Given the description of an element on the screen output the (x, y) to click on. 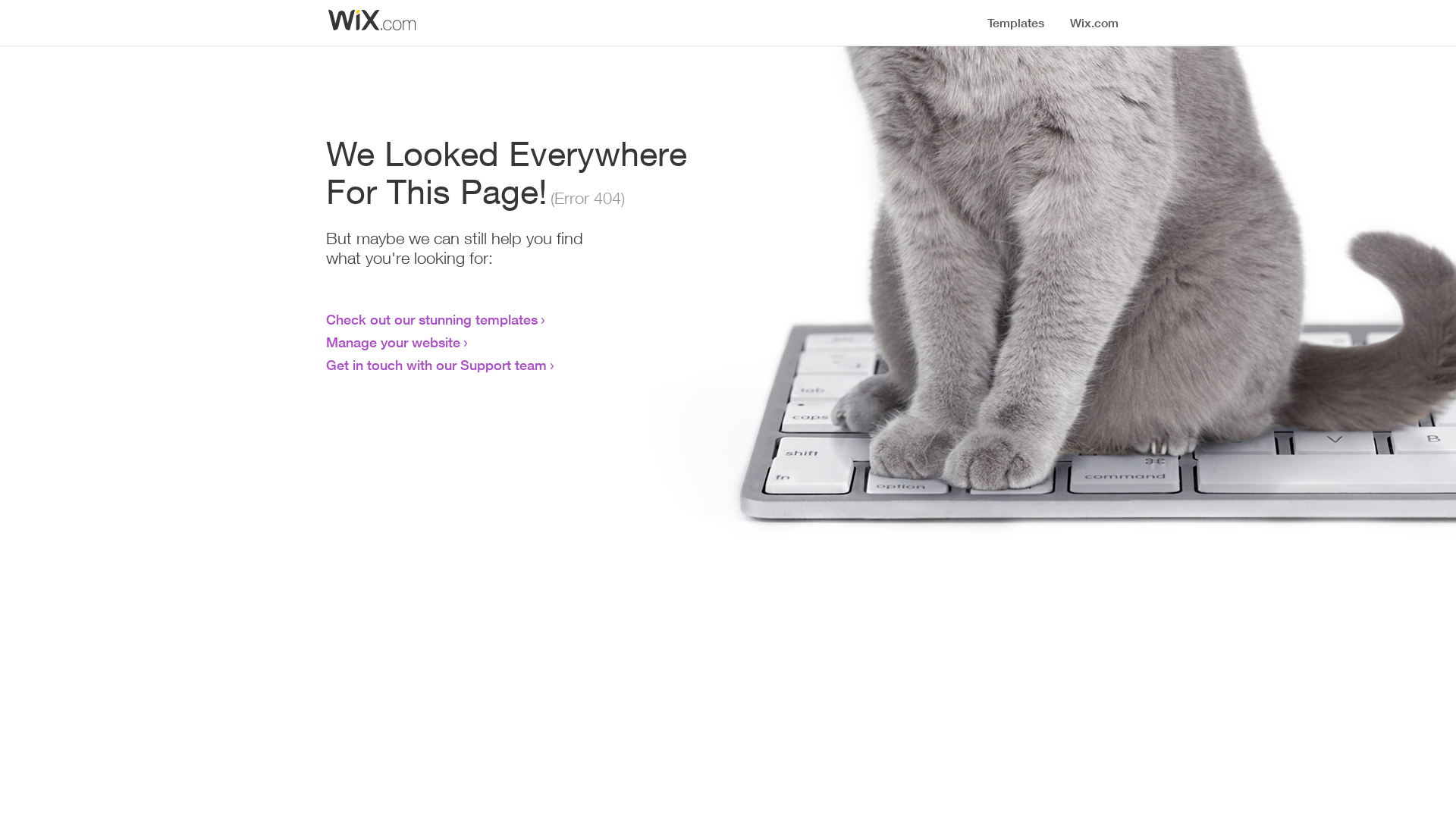
Check out our stunning templates Element type: text (431, 318)
Get in touch with our Support team Element type: text (436, 364)
Manage your website Element type: text (393, 341)
